Given the description of an element on the screen output the (x, y) to click on. 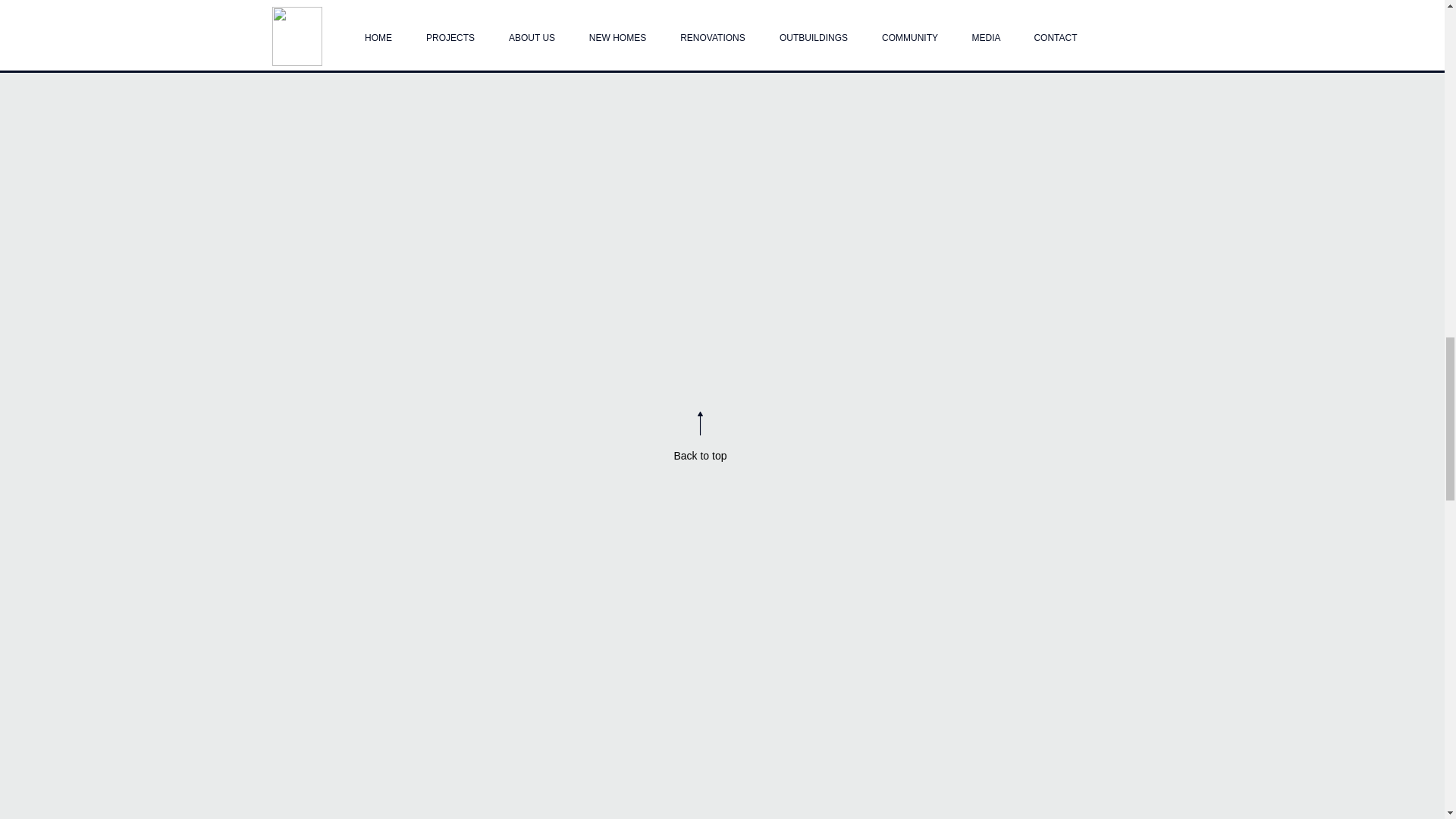
Back to top (699, 455)
